Given the description of an element on the screen output the (x, y) to click on. 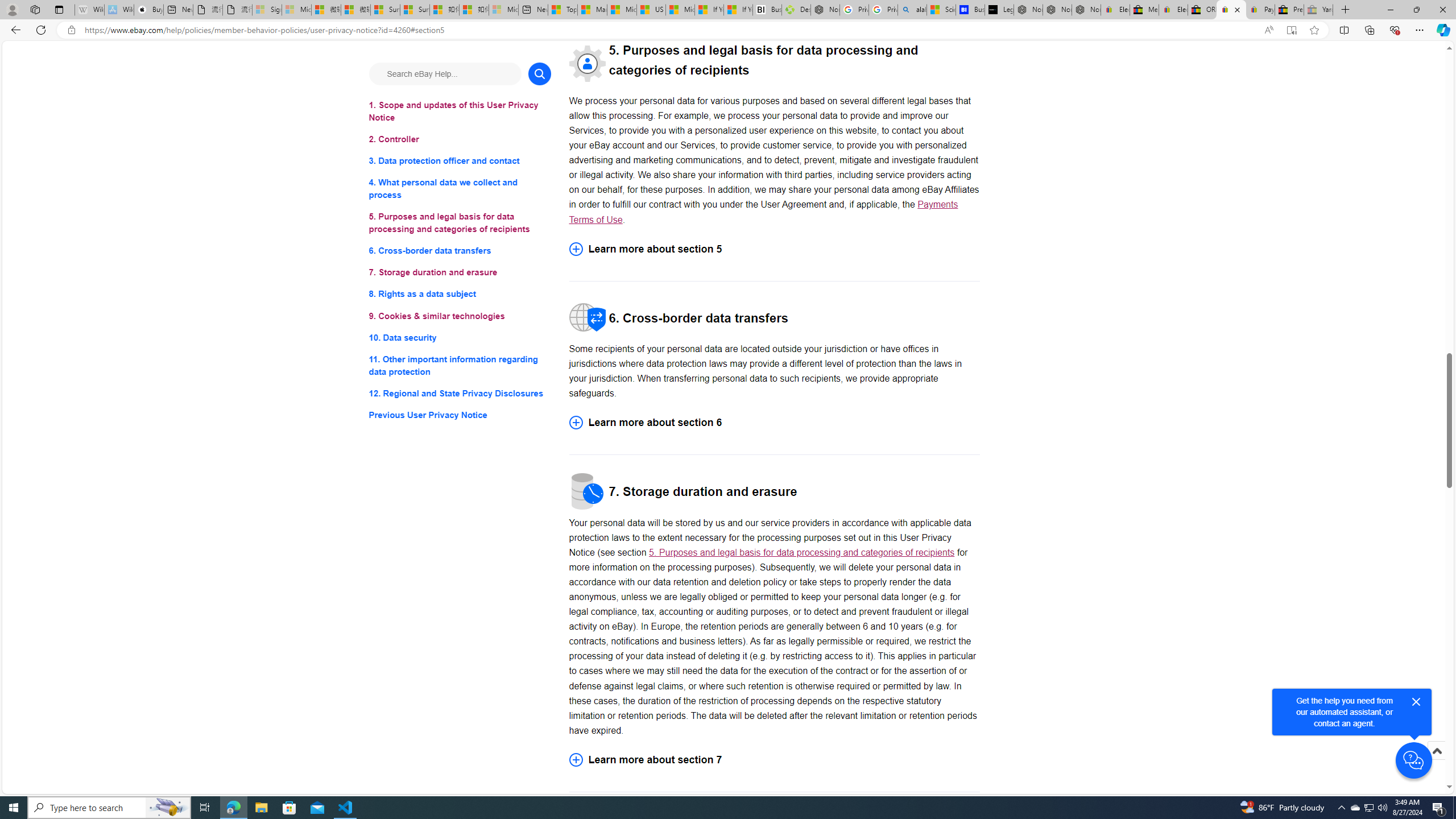
4. What personal data we collect and process (459, 189)
11. Other important information regarding data protection (459, 365)
2. Controller (459, 138)
Scroll to top (1435, 762)
6. Cross-border data transfers (459, 250)
Previous User Privacy Notice (459, 414)
Nordace - My Account (825, 9)
